Given the description of an element on the screen output the (x, y) to click on. 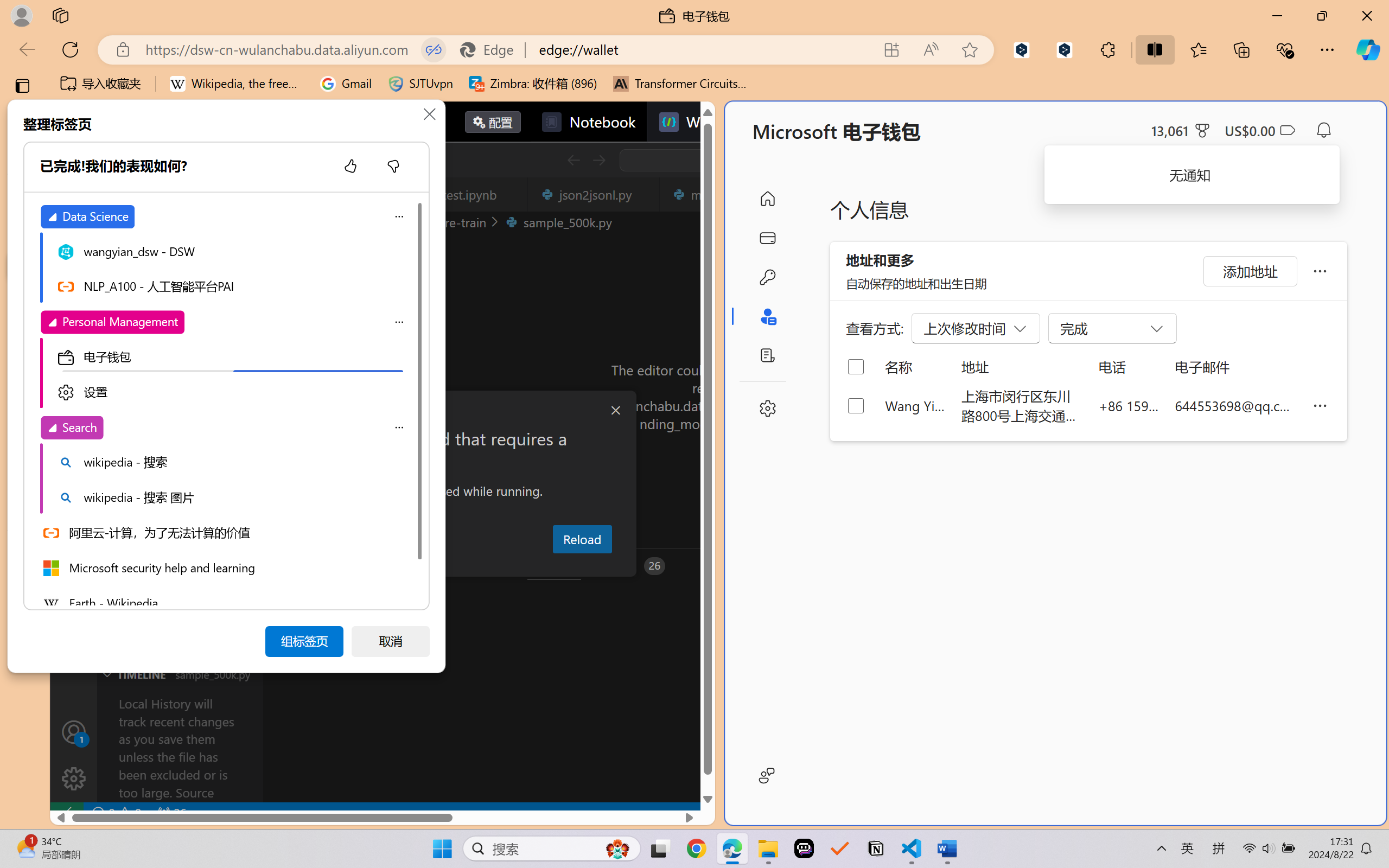
Transformer Circuits Thread (680, 83)
Reload (581, 538)
remote (66, 812)
json2jsonl.py (593, 194)
